Given the description of an element on the screen output the (x, y) to click on. 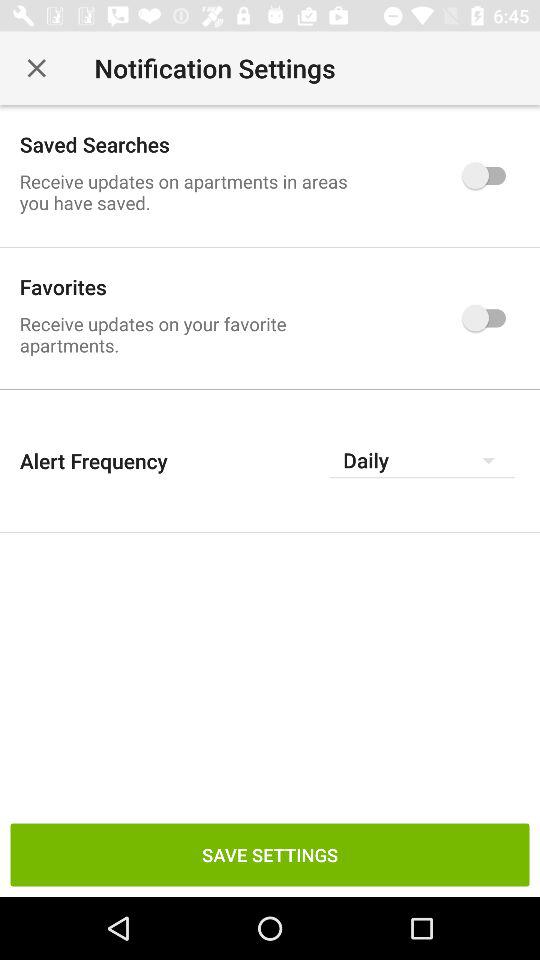
press save settings item (269, 854)
